Given the description of an element on the screen output the (x, y) to click on. 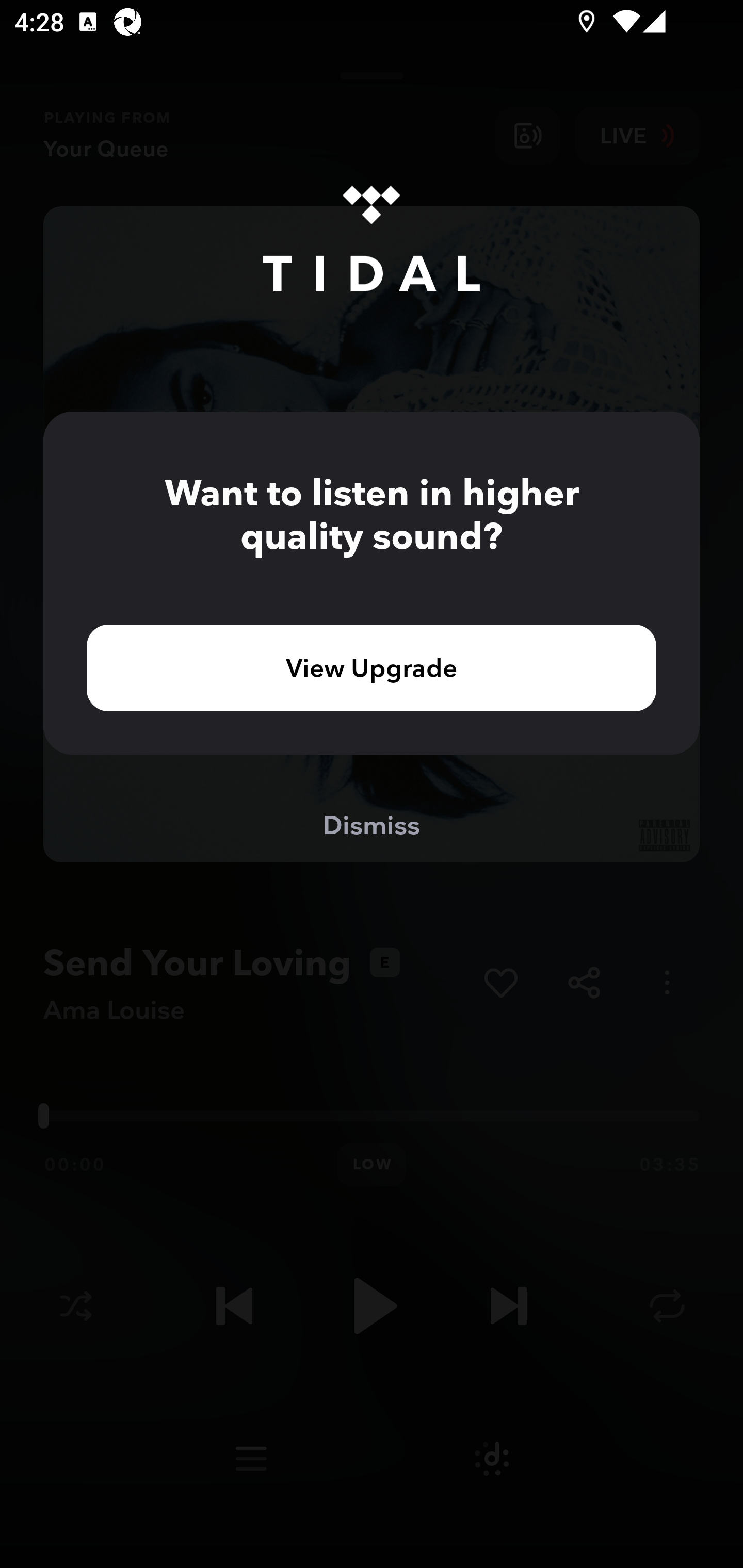
View Upgrade (371, 667)
Dismiss (371, 824)
